Given the description of an element on the screen output the (x, y) to click on. 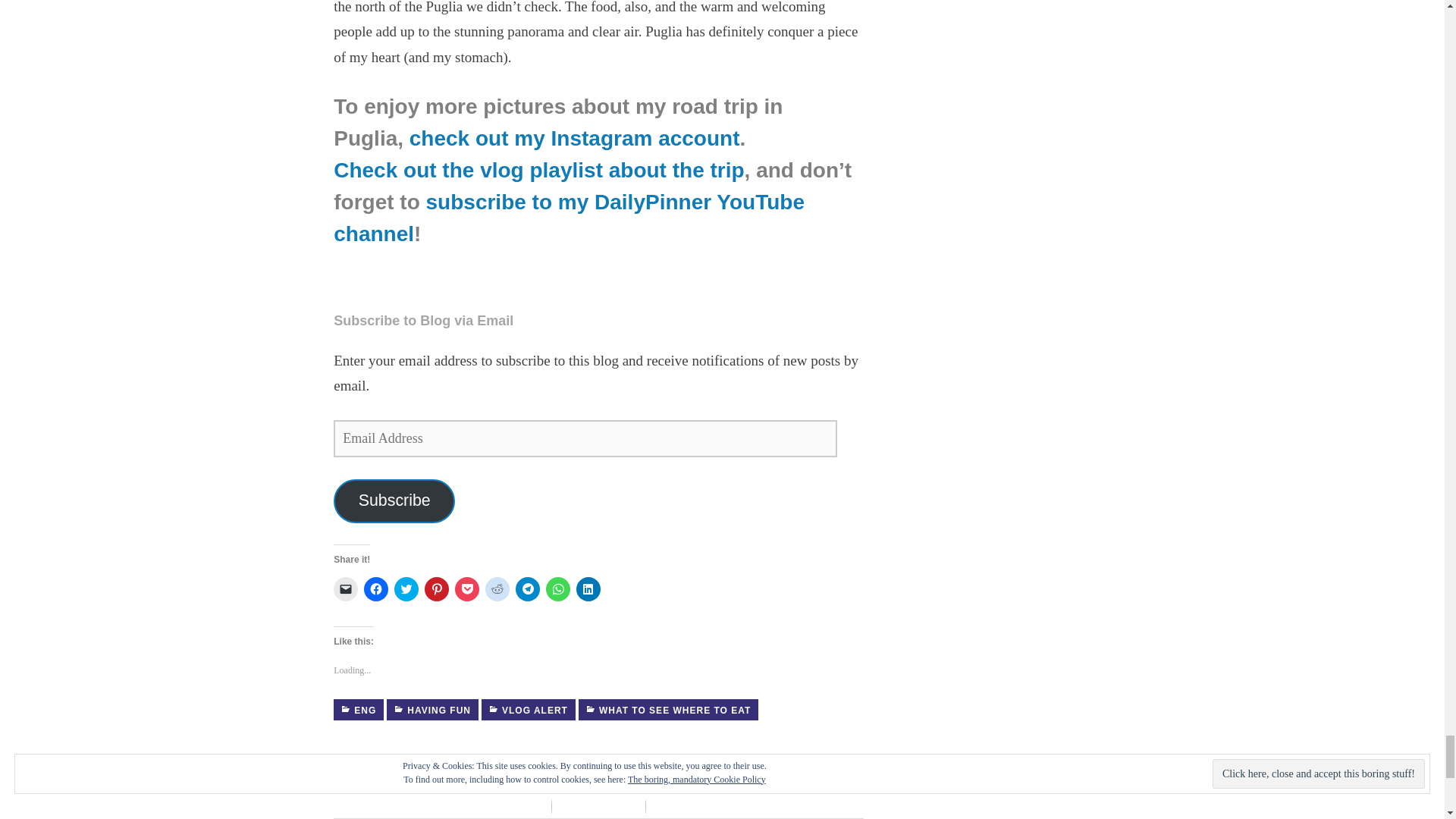
Click to share on Reddit (496, 588)
Click to share on WhatsApp (558, 588)
Click to share on Pinterest (436, 588)
check out my Instagram account (574, 137)
Click to share on Twitter (406, 588)
Click to share on Telegram (527, 588)
Click to share on Facebook (376, 588)
Check out the vlog playlist about the trip (538, 169)
Click to email a link to a friend (345, 588)
Click to share on Pocket (466, 588)
